Given the description of an element on the screen output the (x, y) to click on. 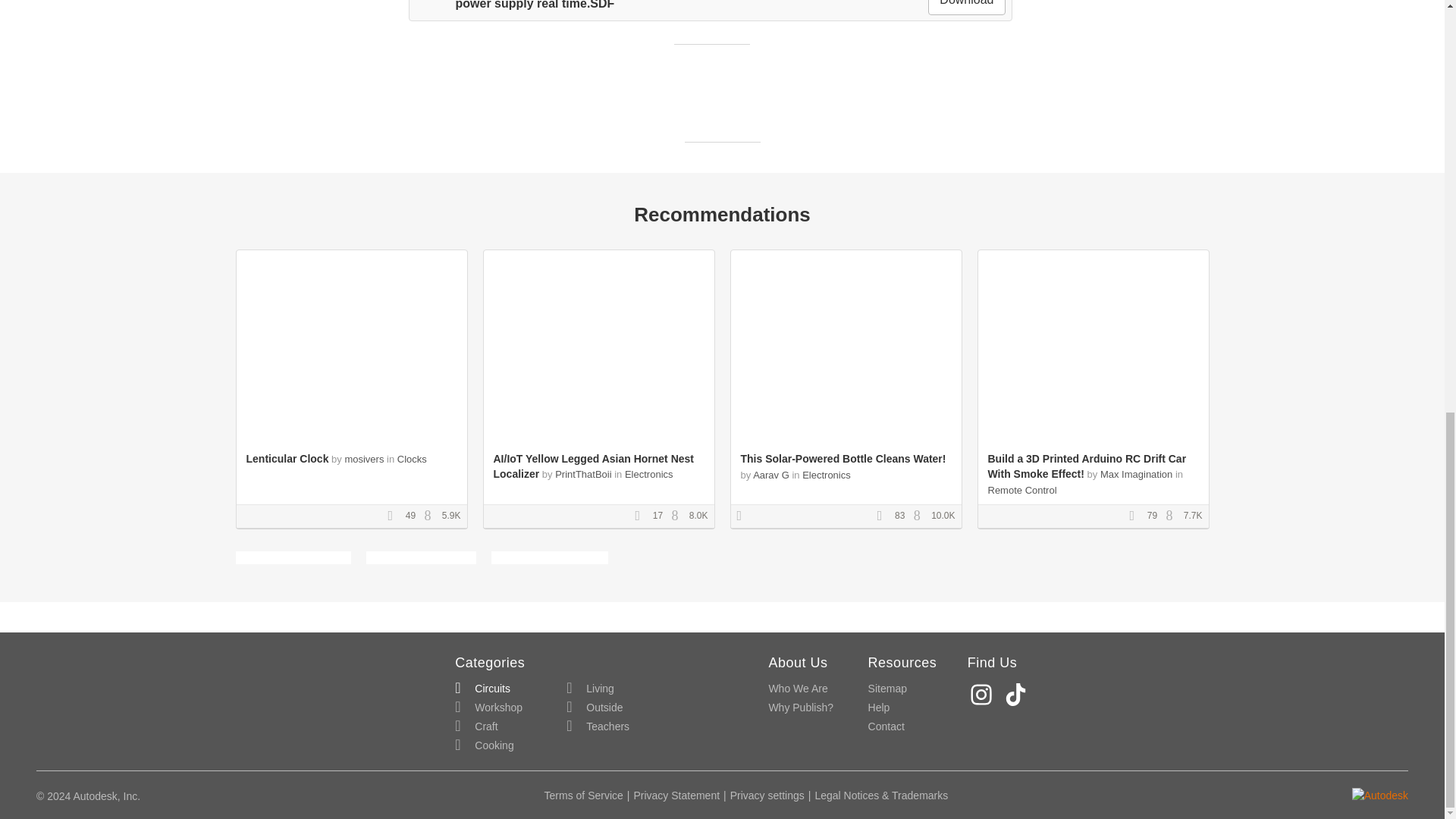
Views Count (1173, 516)
Contest Winner (744, 516)
Favorites Count (641, 516)
This Solar-Powered Bottle Cleans Water! (841, 458)
Favorites Count (395, 516)
PrintThatBoii (584, 473)
Clocks (411, 459)
Max Imagination (1136, 473)
Views Count (431, 516)
Favorites Count (884, 516)
Electronics (826, 474)
Instagram (983, 694)
Lenticular Clock (287, 458)
mosivers (363, 459)
TikTok (1018, 694)
